Given the description of an element on the screen output the (x, y) to click on. 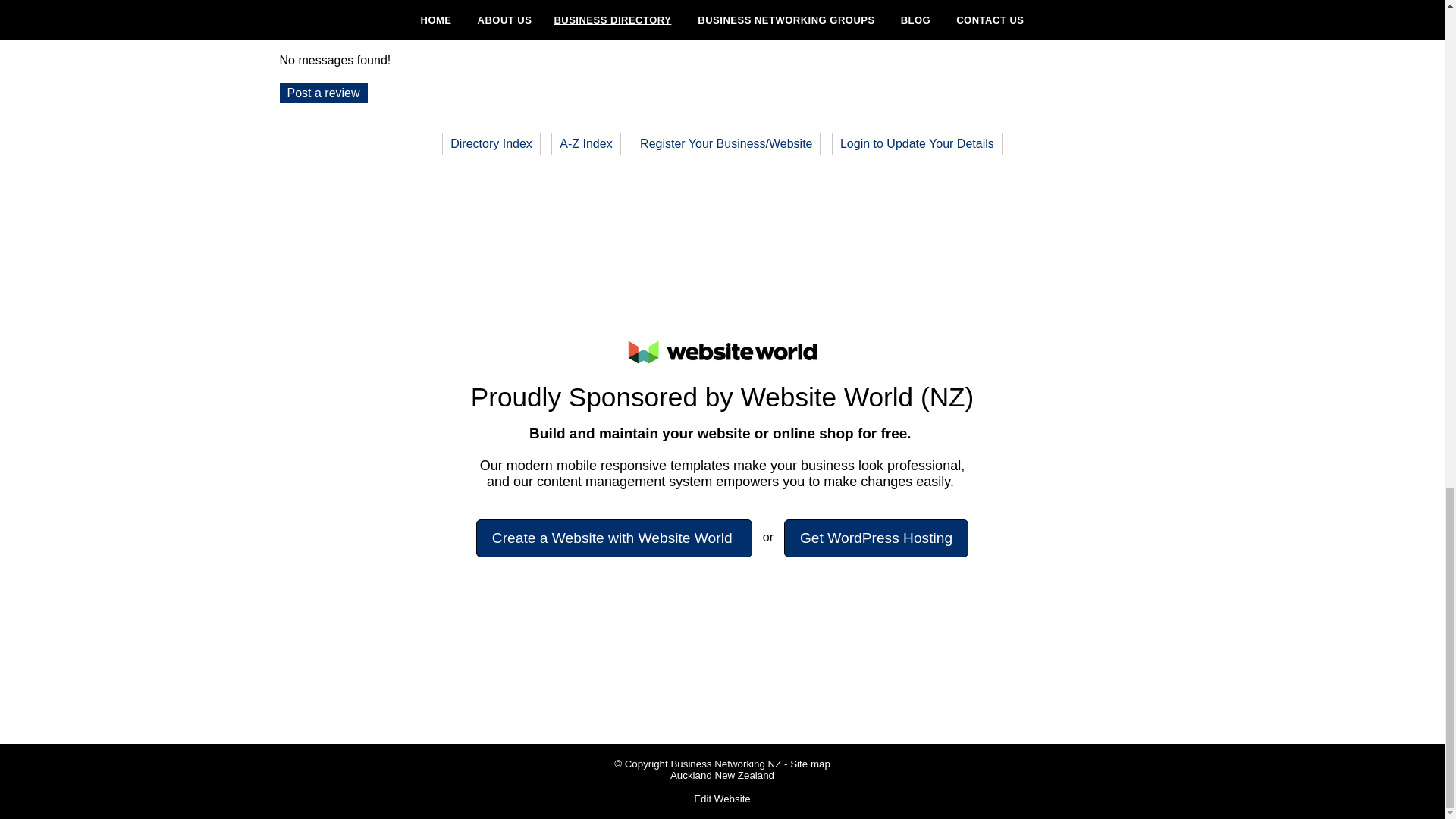
Post a review (322, 93)
